Given the description of an element on the screen output the (x, y) to click on. 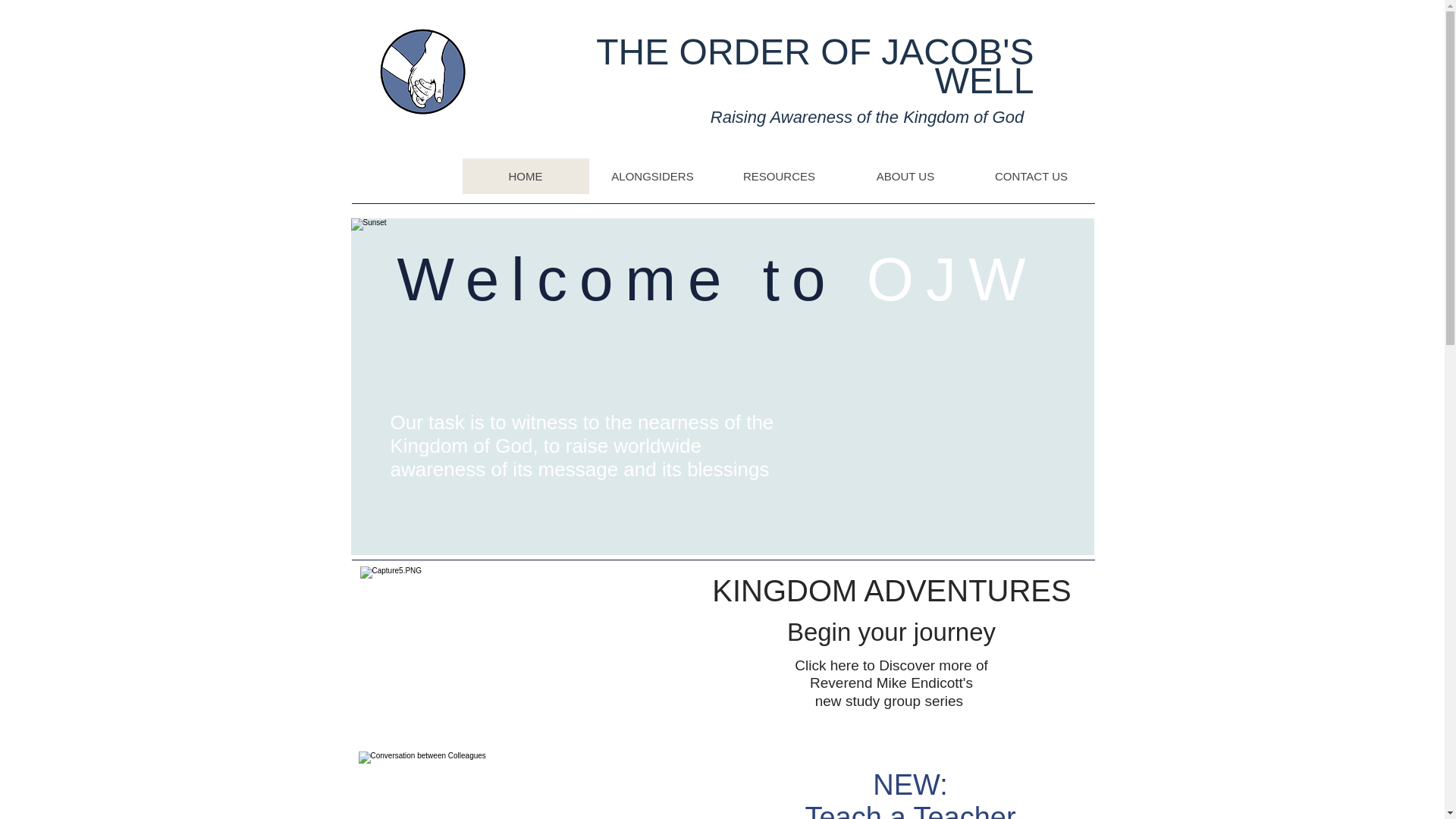
HOME (526, 176)
Click here to Discover more of Reverend Mike Endicott's (890, 674)
ABOUT US (904, 176)
new study group series (888, 700)
RESOURCES (779, 176)
ALONGSIDERS (651, 176)
CONTACT US (1030, 176)
